Given the description of an element on the screen output the (x, y) to click on. 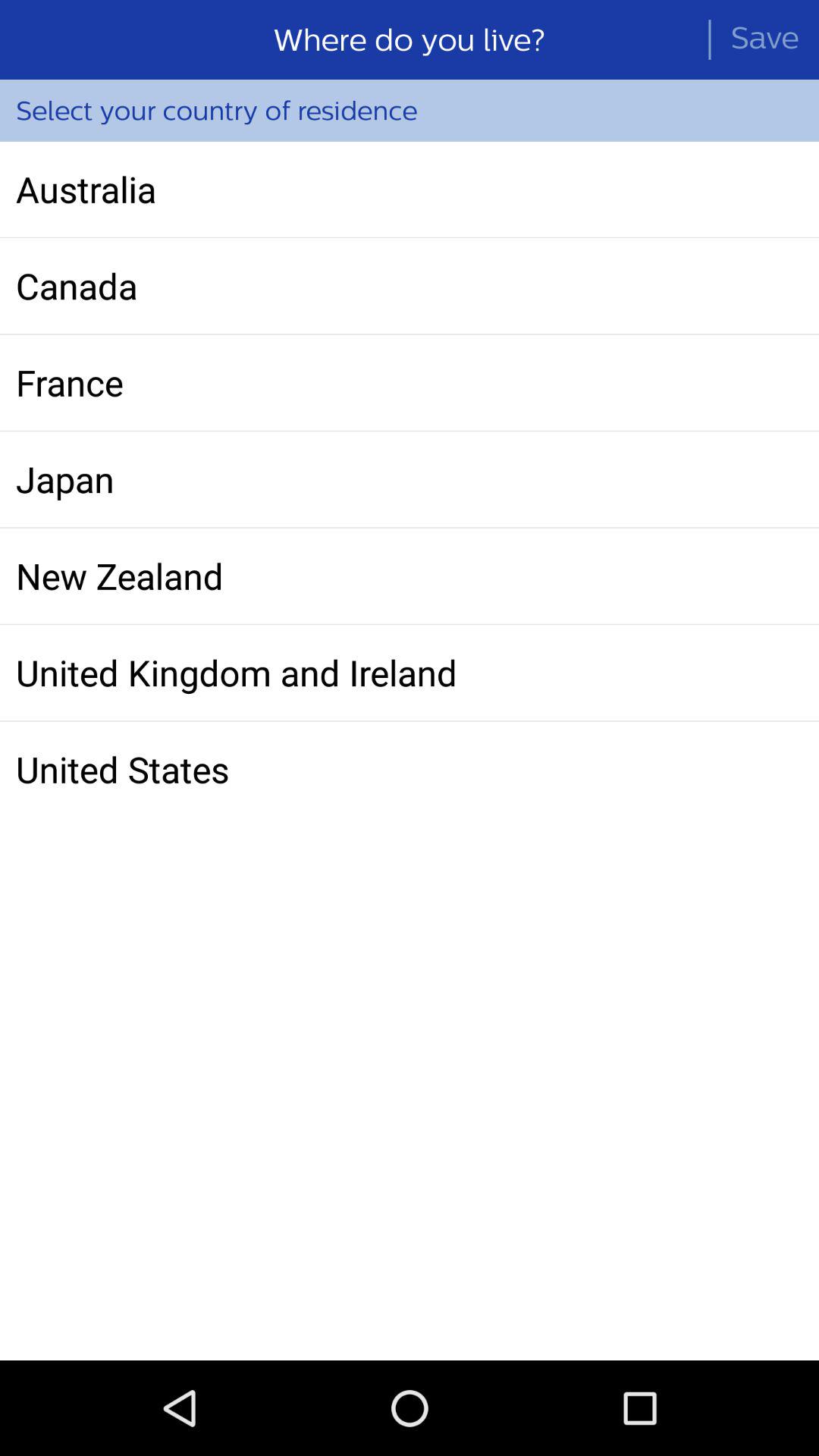
scroll to the united states icon (409, 769)
